Given the description of an element on the screen output the (x, y) to click on. 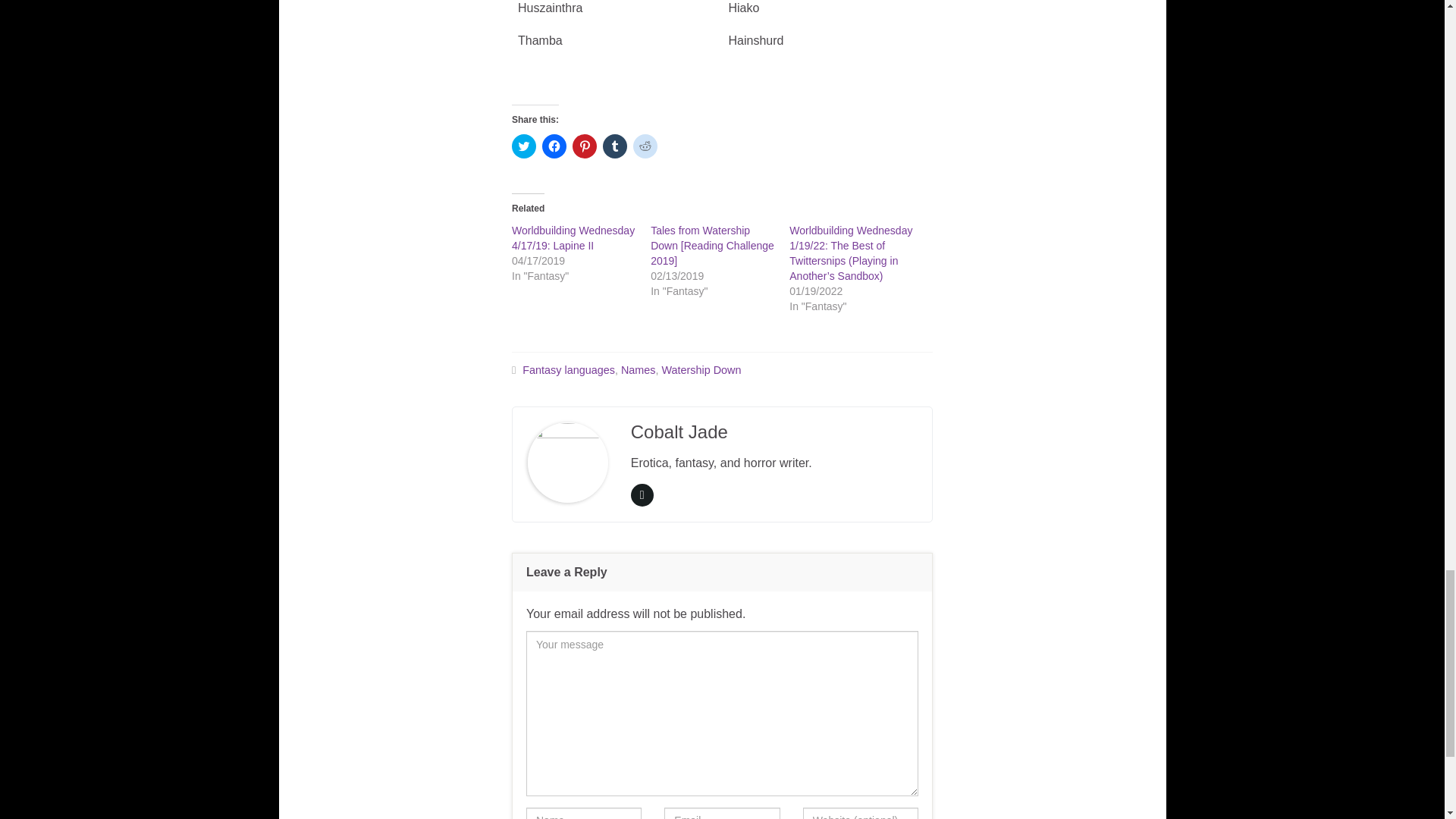
Watership Down (701, 369)
Names (638, 369)
Click to share on Twitter (523, 146)
Click to share on Pinterest (584, 146)
Click to share on Tumblr (614, 146)
Fantasy languages (568, 369)
Click to share on Facebook (553, 146)
Click to share on Reddit (645, 146)
